Given the description of an element on the screen output the (x, y) to click on. 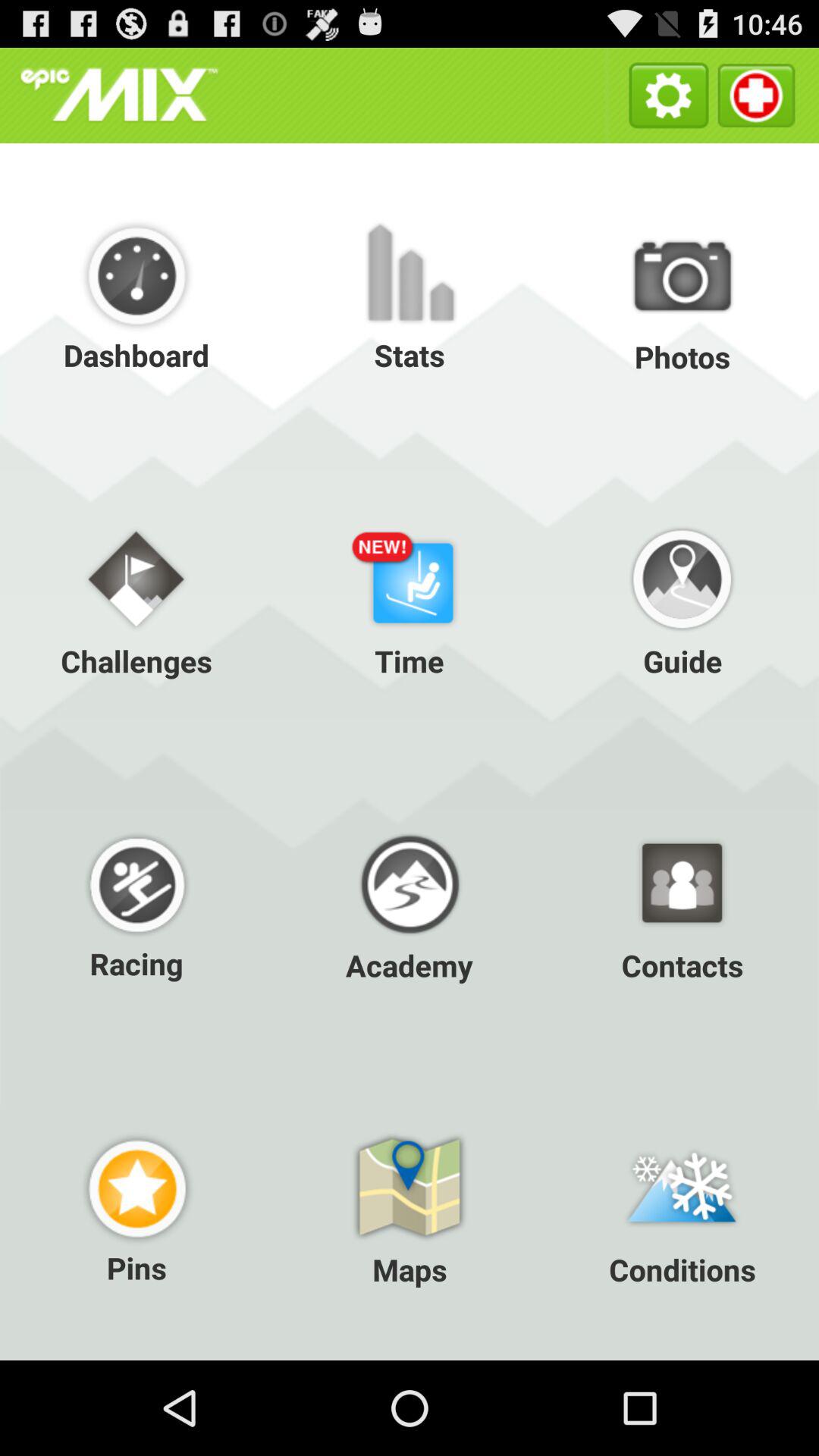
turn on the button above the dashboard icon (118, 95)
